Given the description of an element on the screen output the (x, y) to click on. 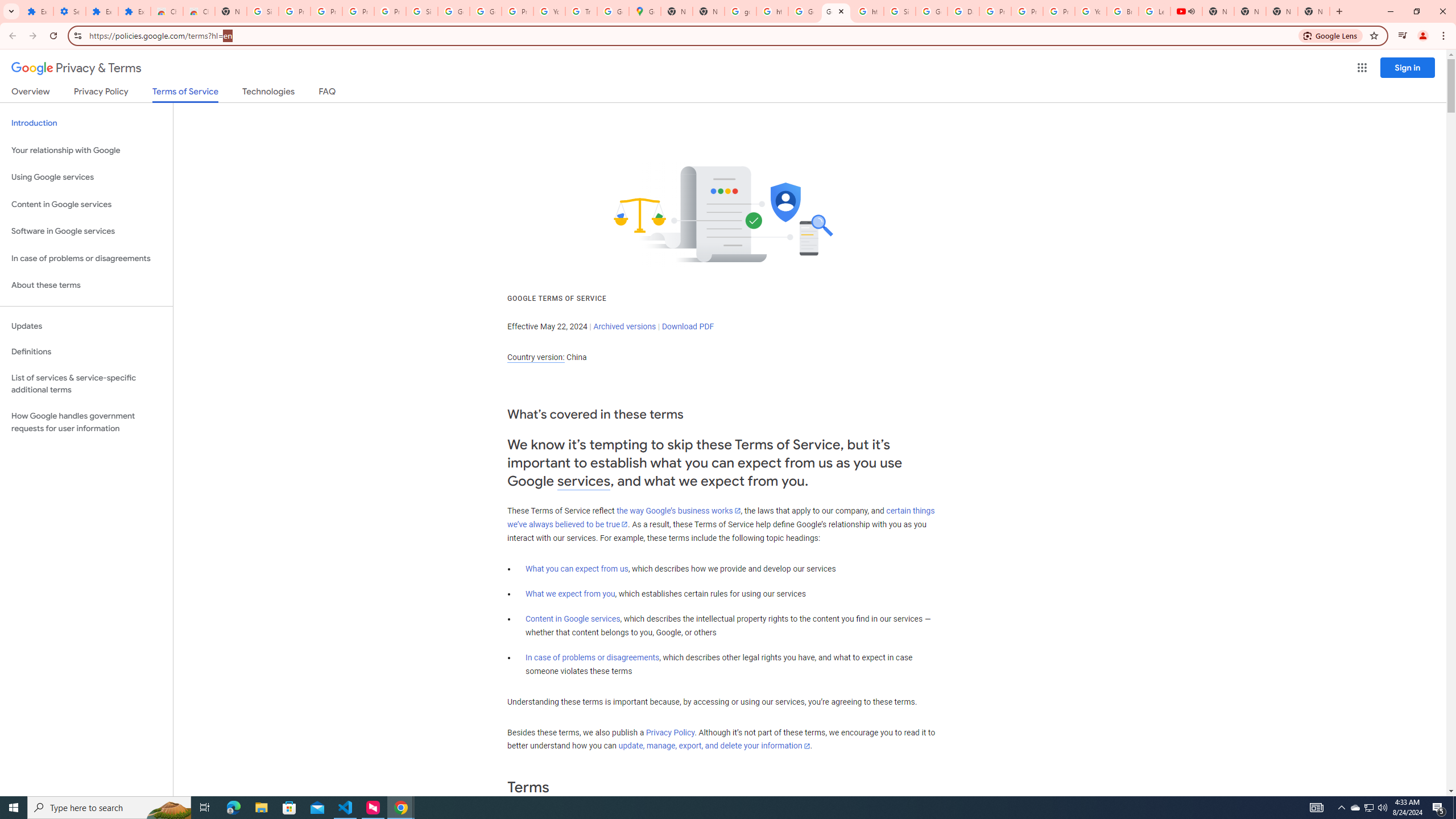
update, manage, export, and delete your information (714, 746)
About these terms (86, 284)
Software in Google services (86, 230)
How Google handles government requests for user information (86, 422)
Sign in - Google Accounts (262, 11)
